Given the description of an element on the screen output the (x, y) to click on. 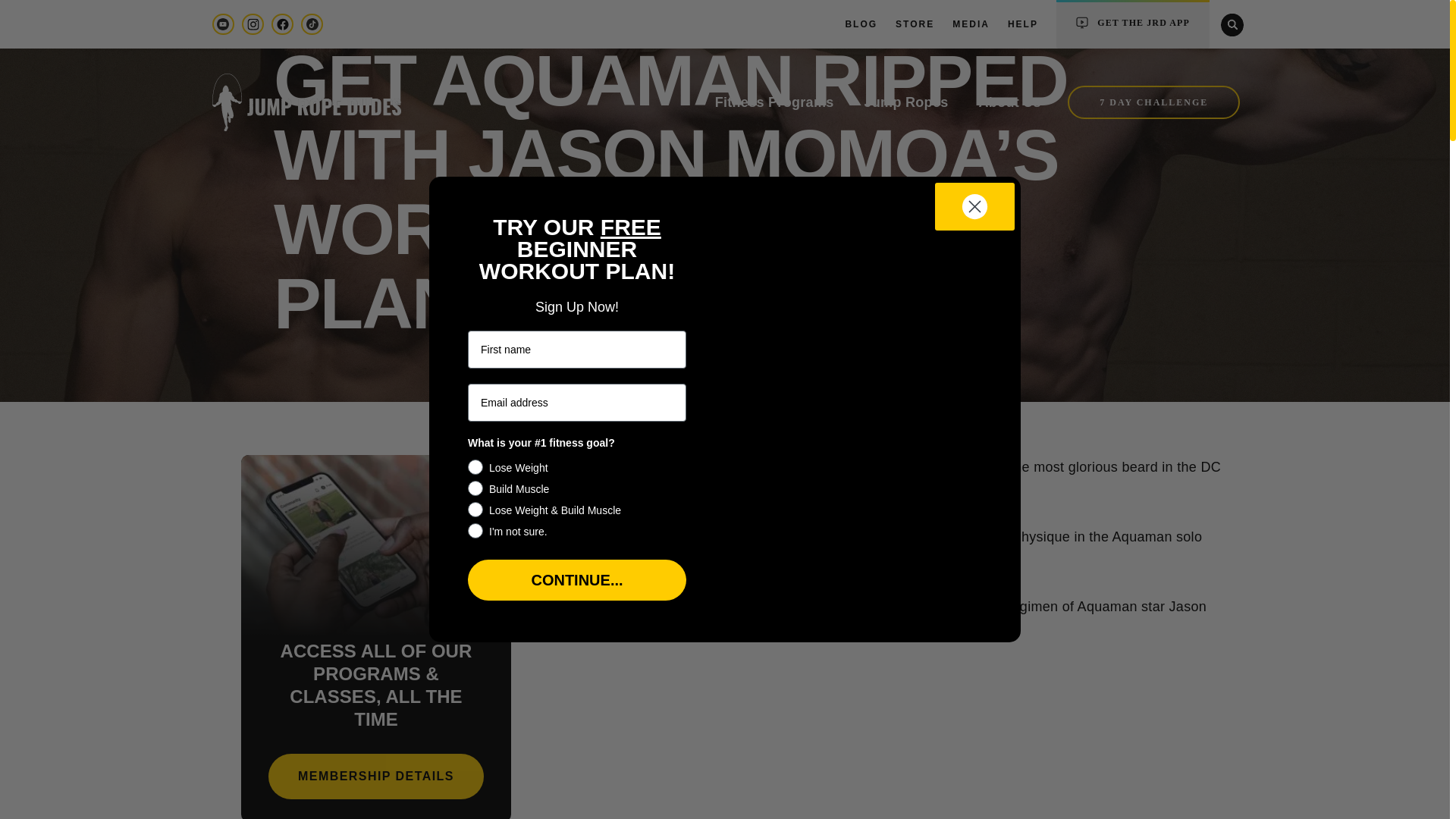
Jump Ropes (905, 101)
MEDIA (970, 24)
About Us (1010, 101)
Submit (50, 16)
GET THE JRD APP (1133, 25)
STORE (915, 24)
HELP (1022, 24)
7 DAY CHALLENGE (1153, 101)
MEMBERSHIP DETAILS (375, 776)
Fitness Programs (774, 101)
BLOG (861, 24)
